Given the description of an element on the screen output the (x, y) to click on. 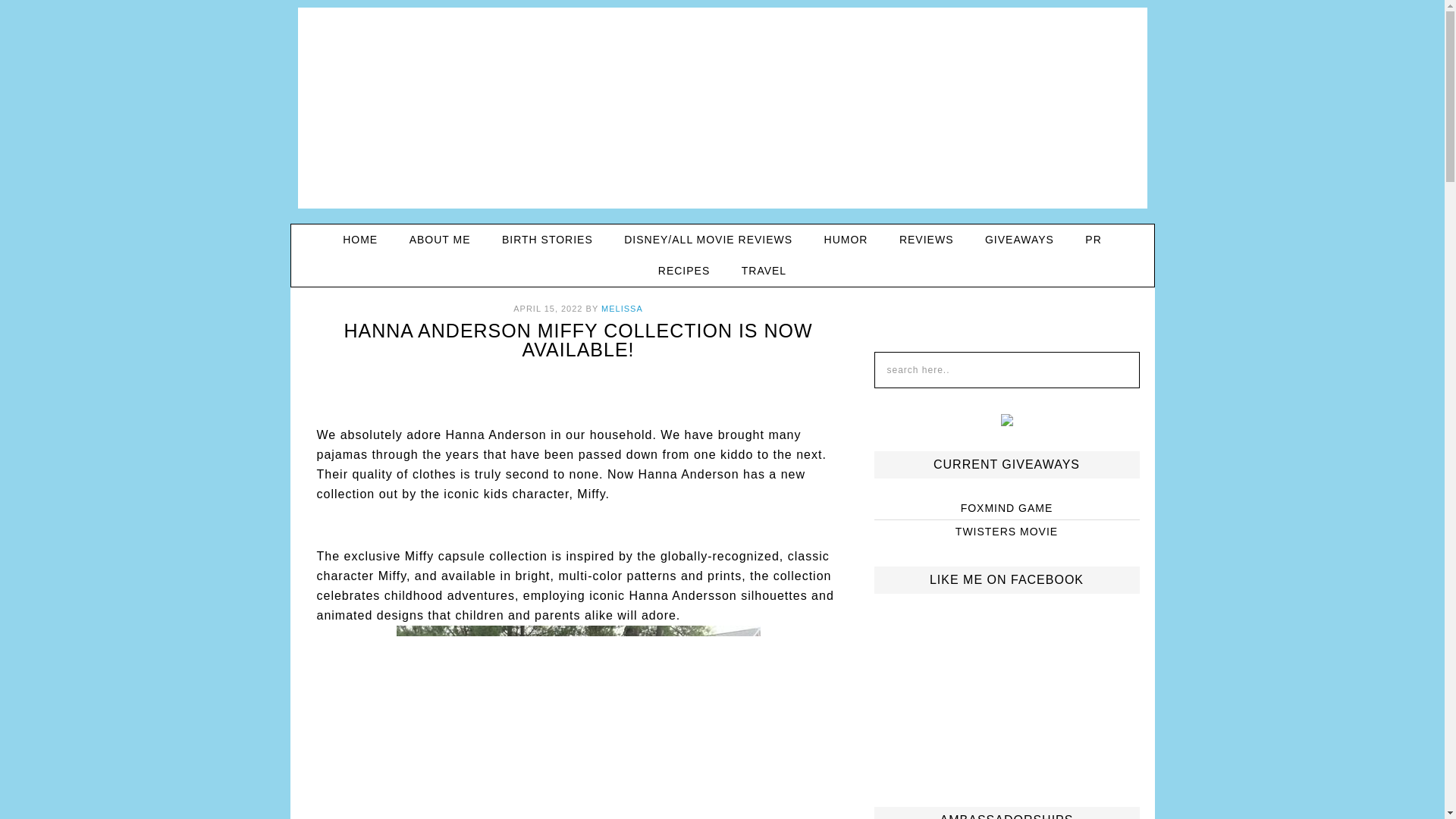
REVIEWS (926, 239)
TRAVEL (763, 270)
BIRTH STORIES (547, 239)
PR (1093, 239)
MELISSA (622, 307)
HUMOR (846, 239)
RECIPES (684, 270)
THE MOMMYHOOD CHRONICLES (722, 113)
ABOUT ME (440, 239)
